Given the description of an element on the screen output the (x, y) to click on. 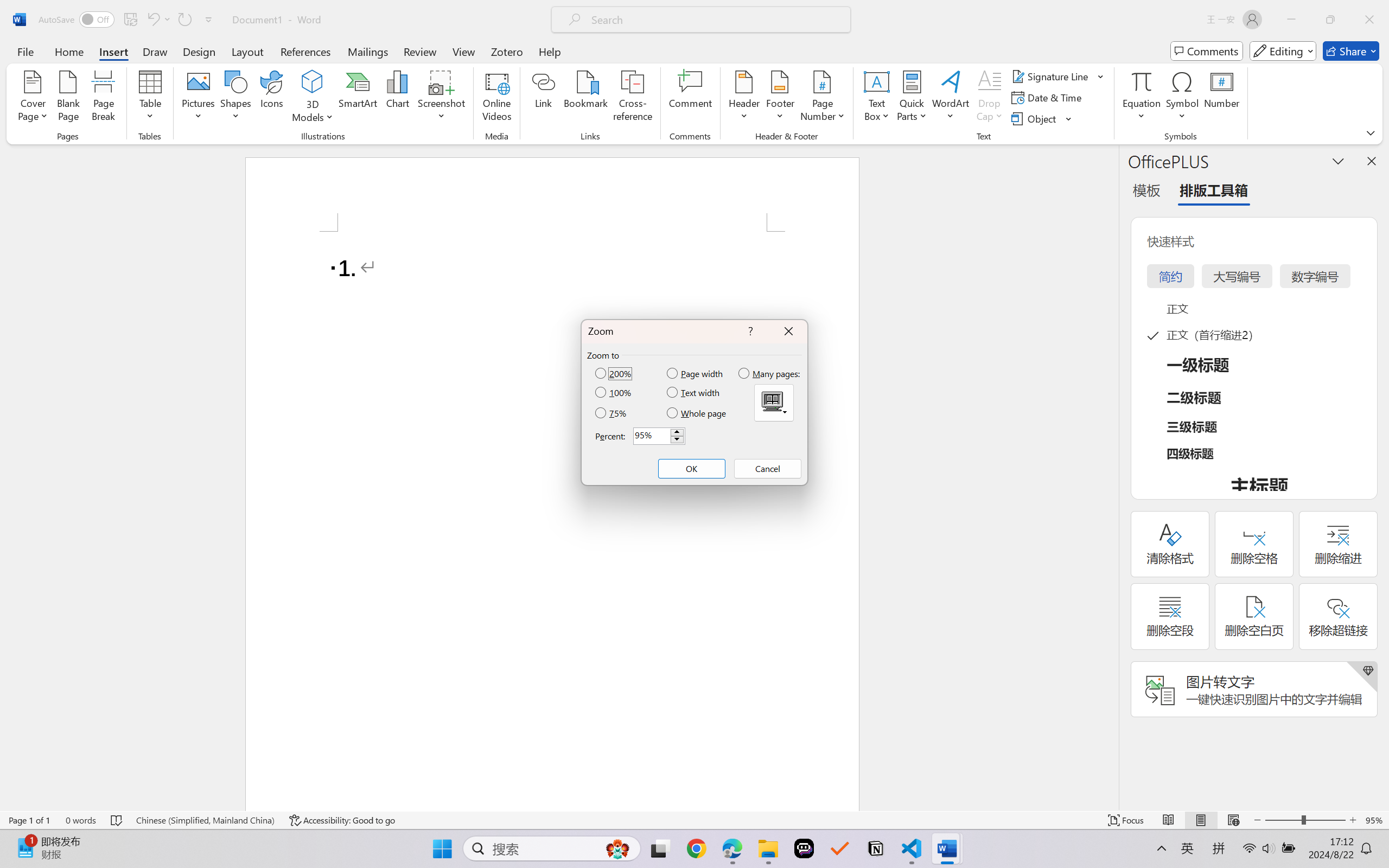
Cover Page (33, 97)
Pictures (198, 97)
Equation (1141, 97)
Zoom 95% (1374, 819)
Comment (689, 97)
Online Videos... (496, 97)
Quick Parts (912, 97)
Signature Line (1058, 75)
